Given the description of an element on the screen output the (x, y) to click on. 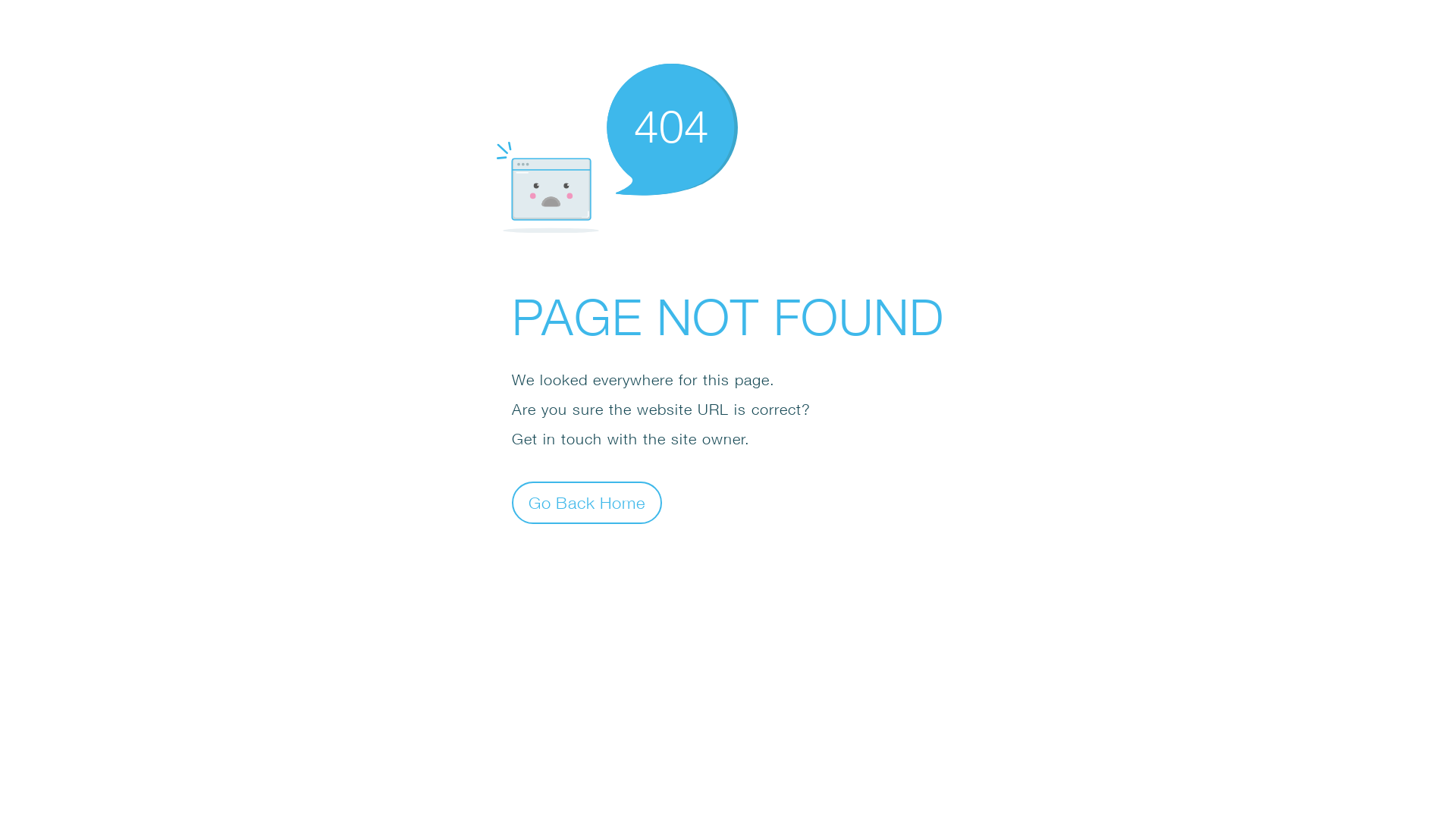
Go Back Home Element type: text (586, 502)
